Given the description of an element on the screen output the (x, y) to click on. 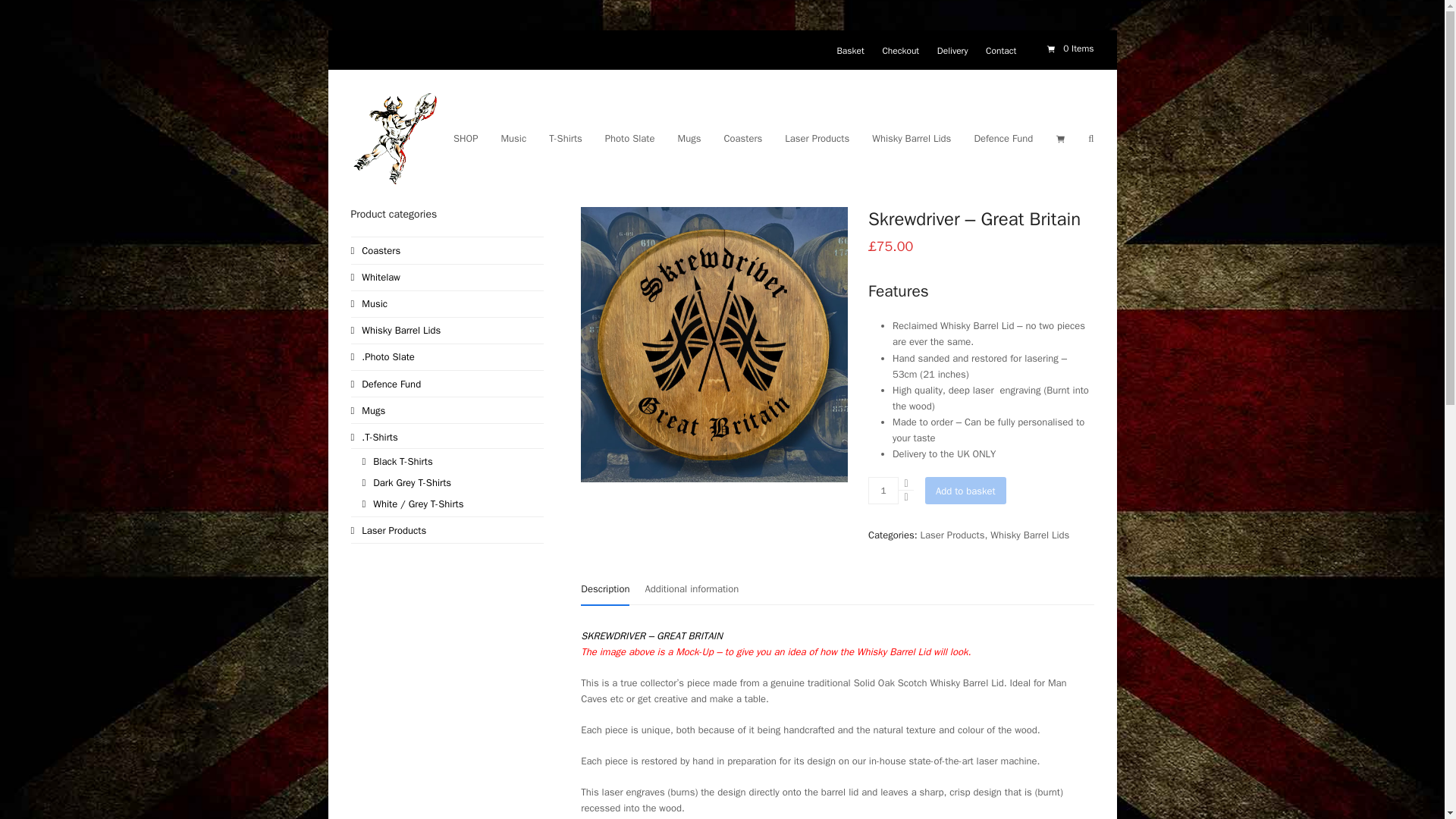
Add to basket (965, 490)
0 Items (1069, 48)
Delivery (952, 50)
Whitelaw (374, 277)
Basket (849, 50)
Checkout (900, 50)
Skrewdriver-Great-Britain (713, 344)
Laser Products (952, 534)
Description (604, 590)
Coasters (375, 250)
Whisky Barrel Lids (1029, 534)
Additional information (691, 589)
Contact (1000, 50)
1 (882, 490)
